Given the description of an element on the screen output the (x, y) to click on. 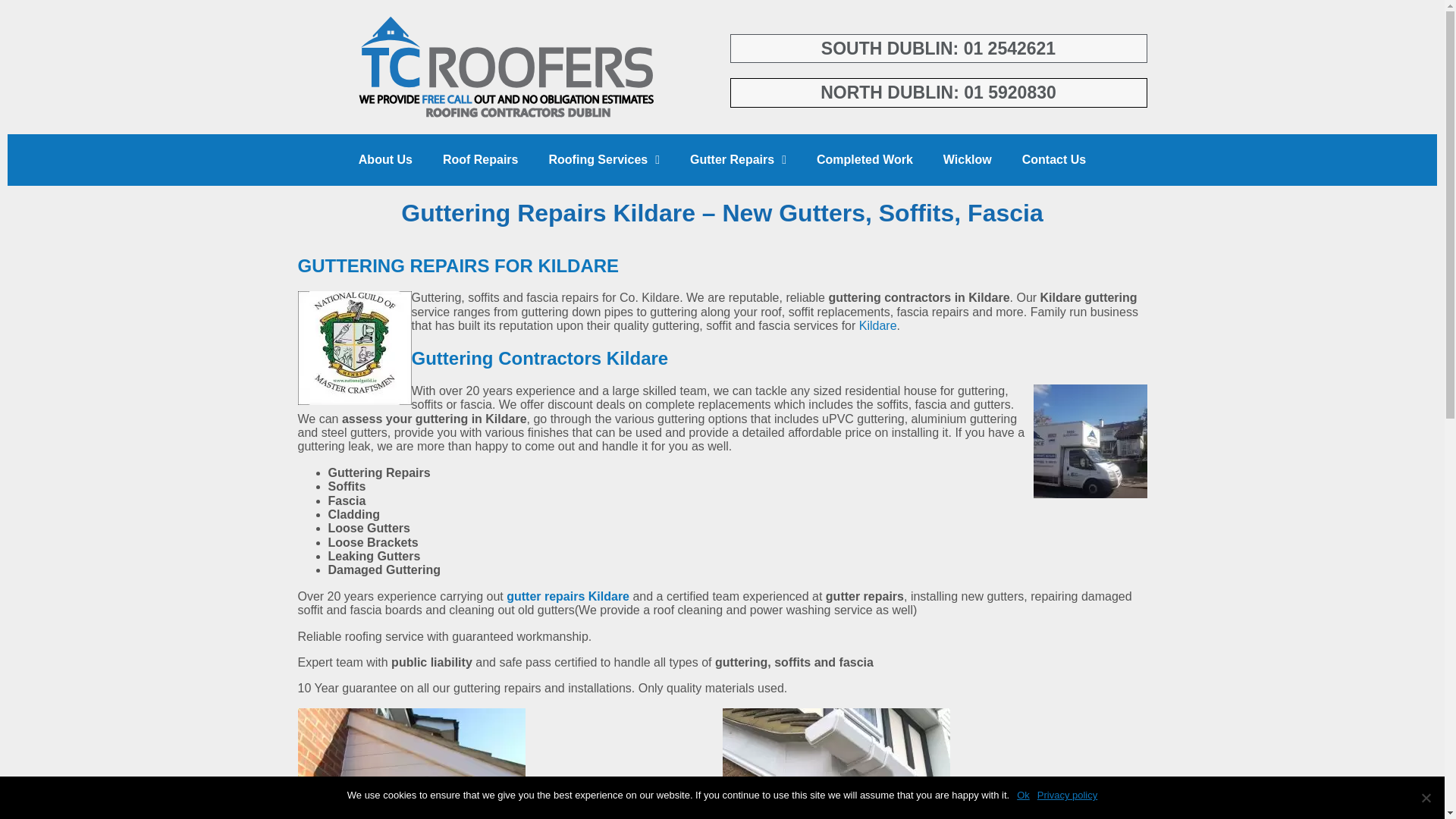
About Us (385, 159)
Roof Repairs (481, 159)
Roofing Services (604, 159)
NORTH DUBLIN: 01 5920830 (938, 92)
Completed Work (865, 159)
Gutter Repairs (738, 159)
Contact Us (1053, 159)
Wicklow (967, 159)
SOUTH DUBLIN: 01 2542621 (938, 48)
No (1425, 797)
